Given the description of an element on the screen output the (x, y) to click on. 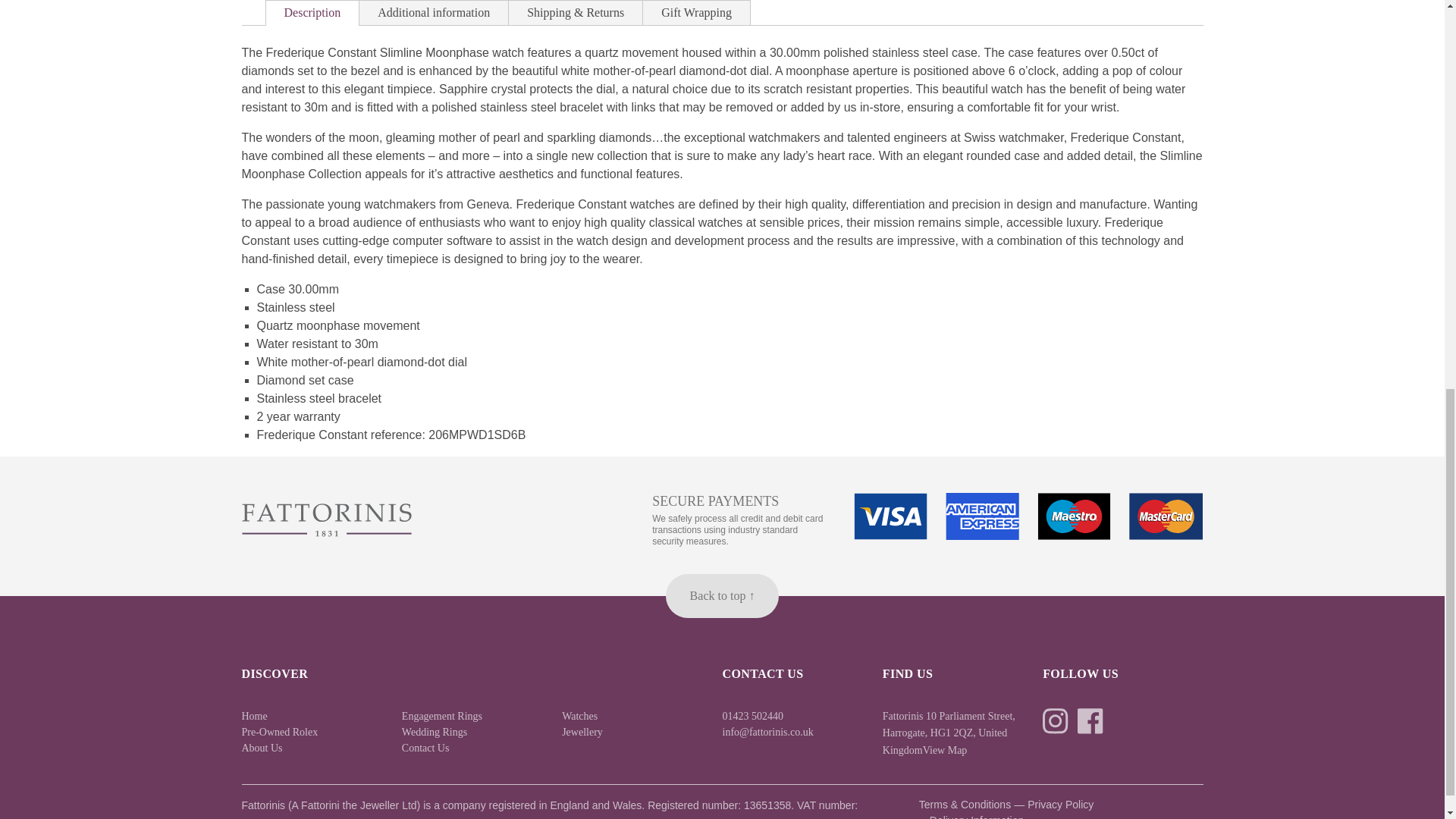
Pre-Owned Rolex (279, 731)
Description (311, 12)
Watches (579, 715)
Gift Wrapping (696, 12)
Additional information (433, 12)
Engagement Rings (441, 715)
Wedding Rings (434, 731)
Home (253, 715)
